Given the description of an element on the screen output the (x, y) to click on. 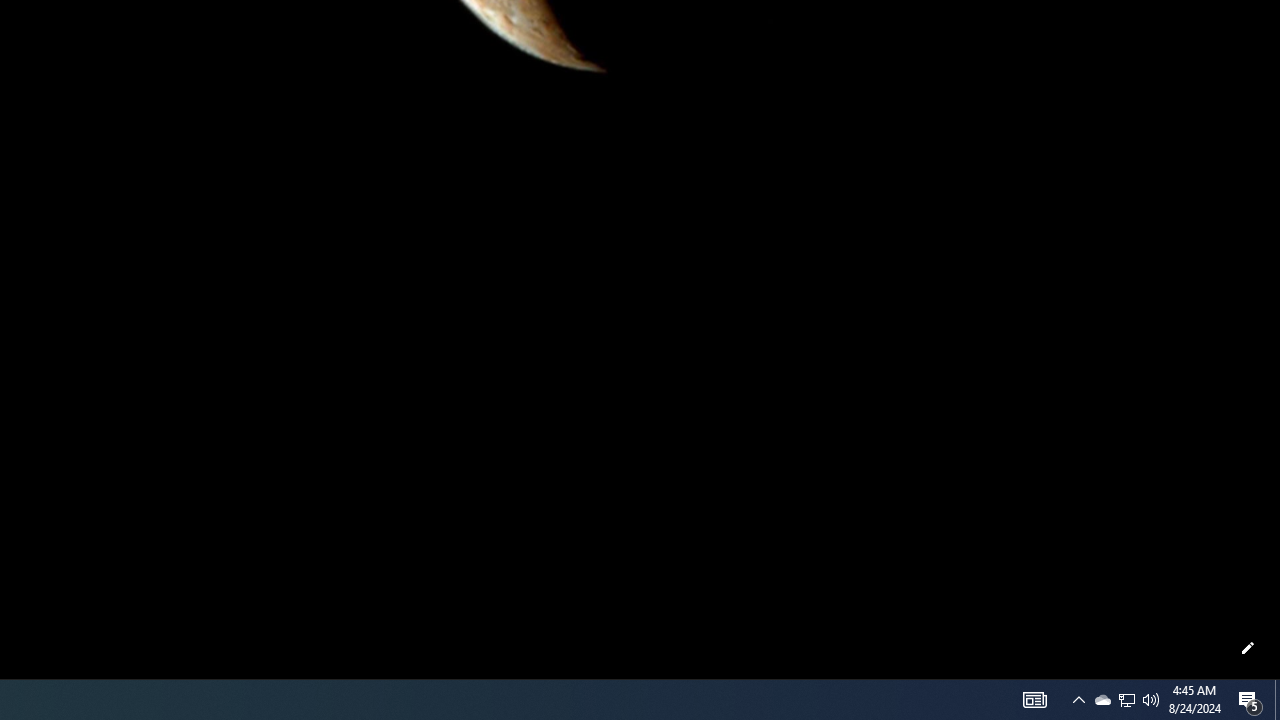
Customize this page (1247, 647)
